Given the description of an element on the screen output the (x, y) to click on. 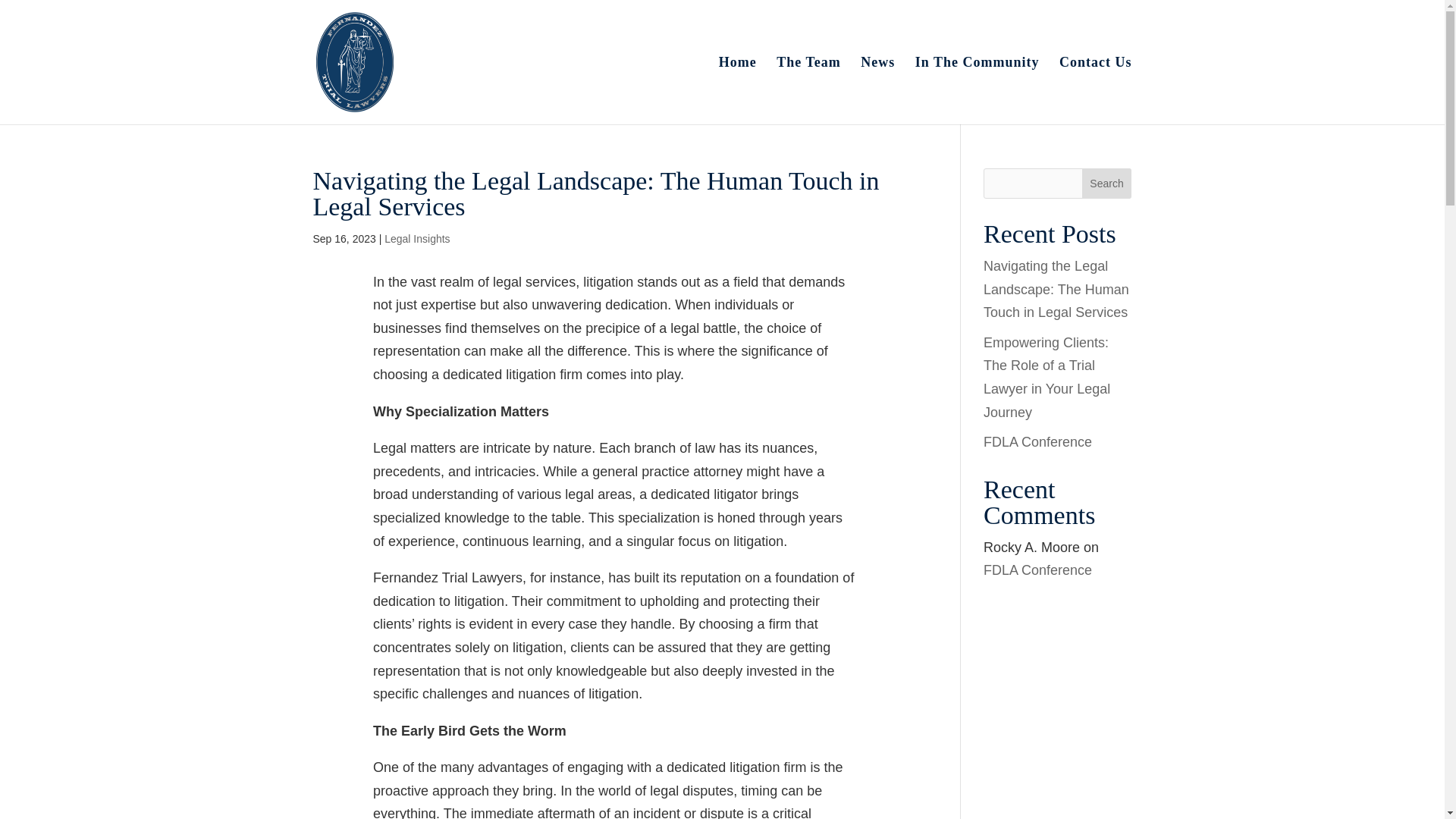
Search (1106, 183)
News (877, 90)
The Team (808, 90)
Home (738, 90)
In The Community (977, 90)
FDLA Conference (1038, 570)
Legal Insights (416, 238)
FDLA Conference (1038, 441)
Contact Us (1095, 90)
